Given the description of an element on the screen output the (x, y) to click on. 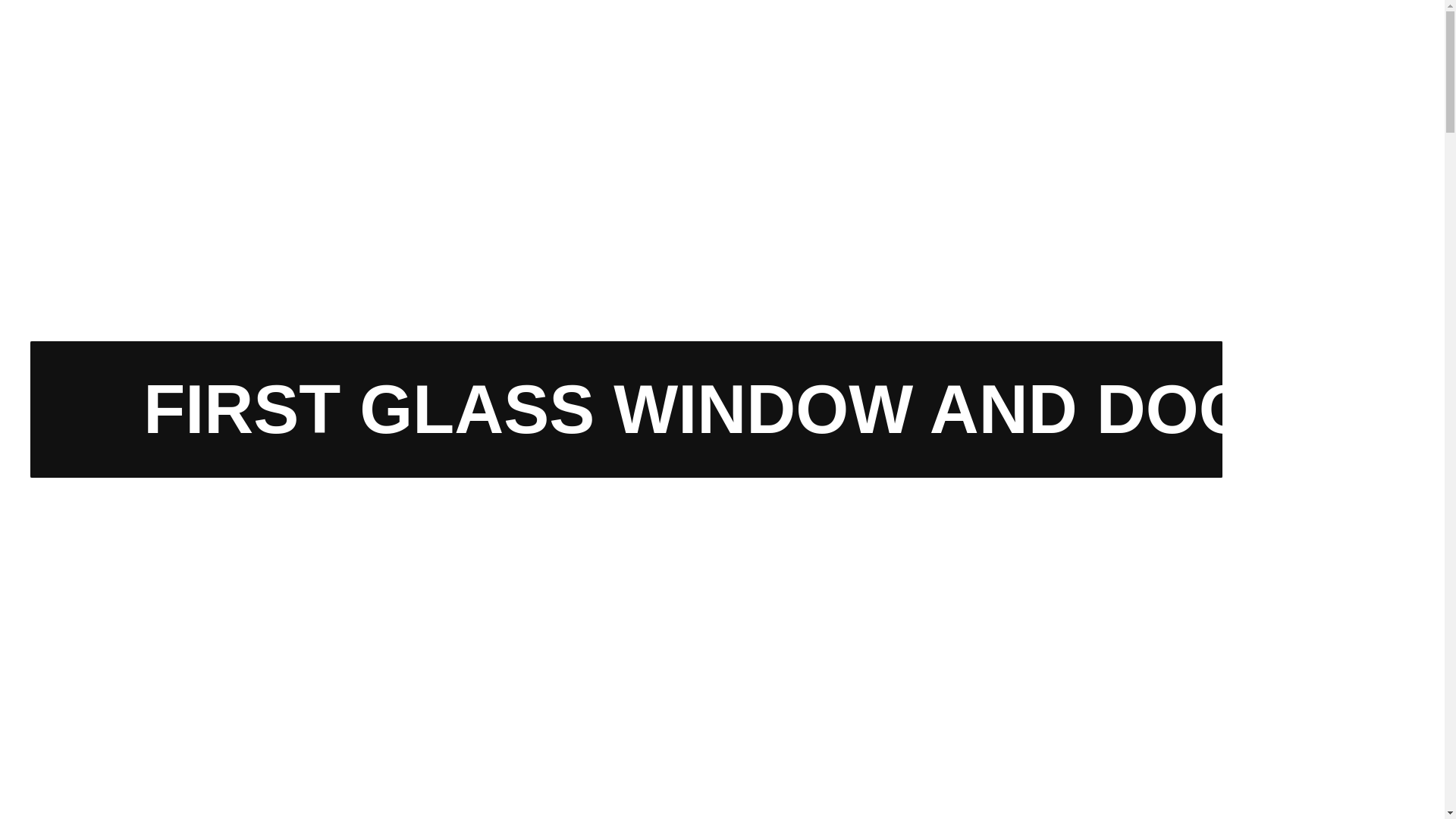
752 McCauley Rd (1083, 34)
Suite 103 Stow, OH 44224 (1088, 53)
Why First Glass (347, 115)
Windows (462, 115)
